Given the description of an element on the screen output the (x, y) to click on. 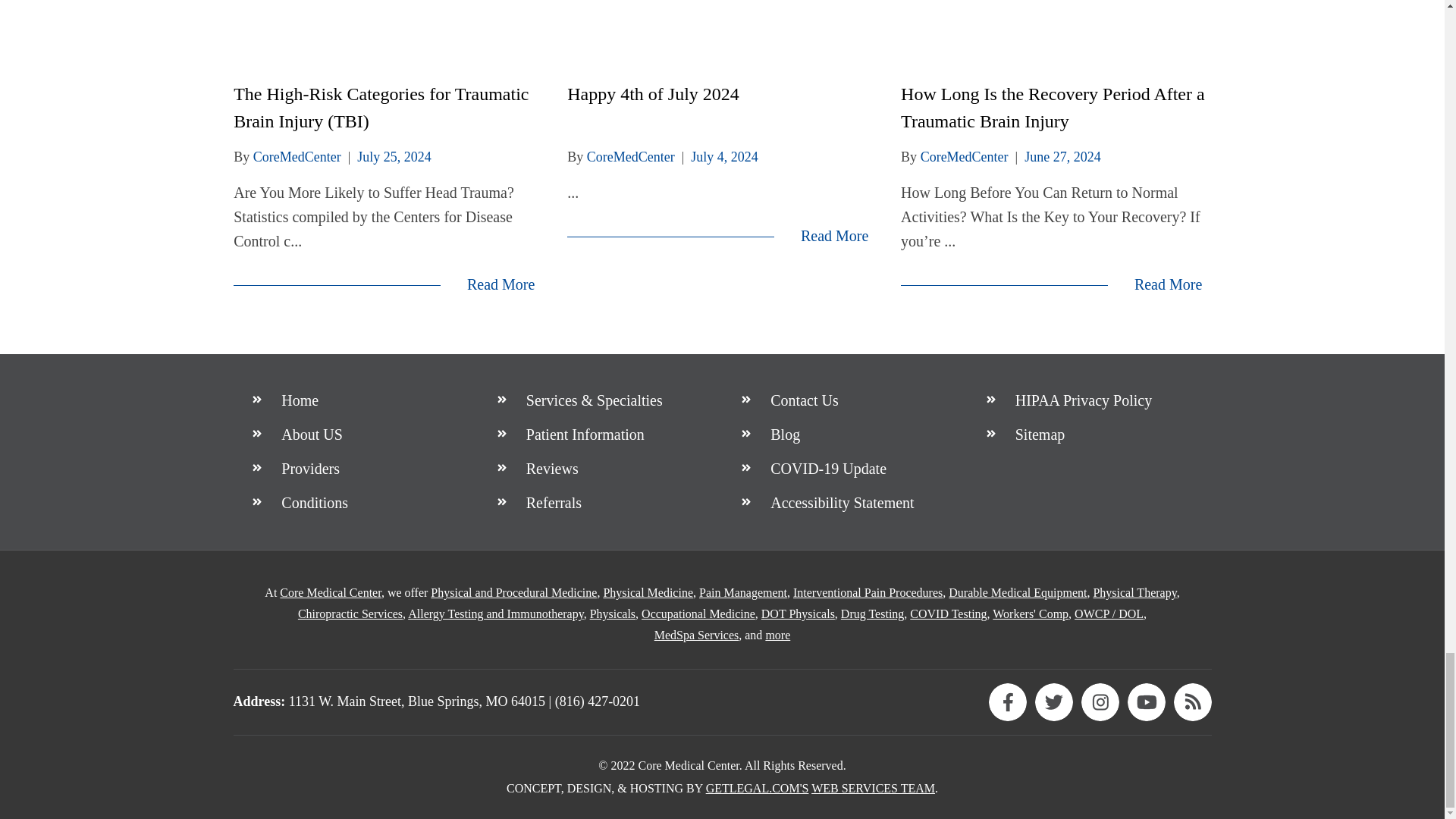
CoreMedCenter (296, 156)
CoreMedCenter (964, 156)
CoreMedCenter (630, 156)
